Given the description of an element on the screen output the (x, y) to click on. 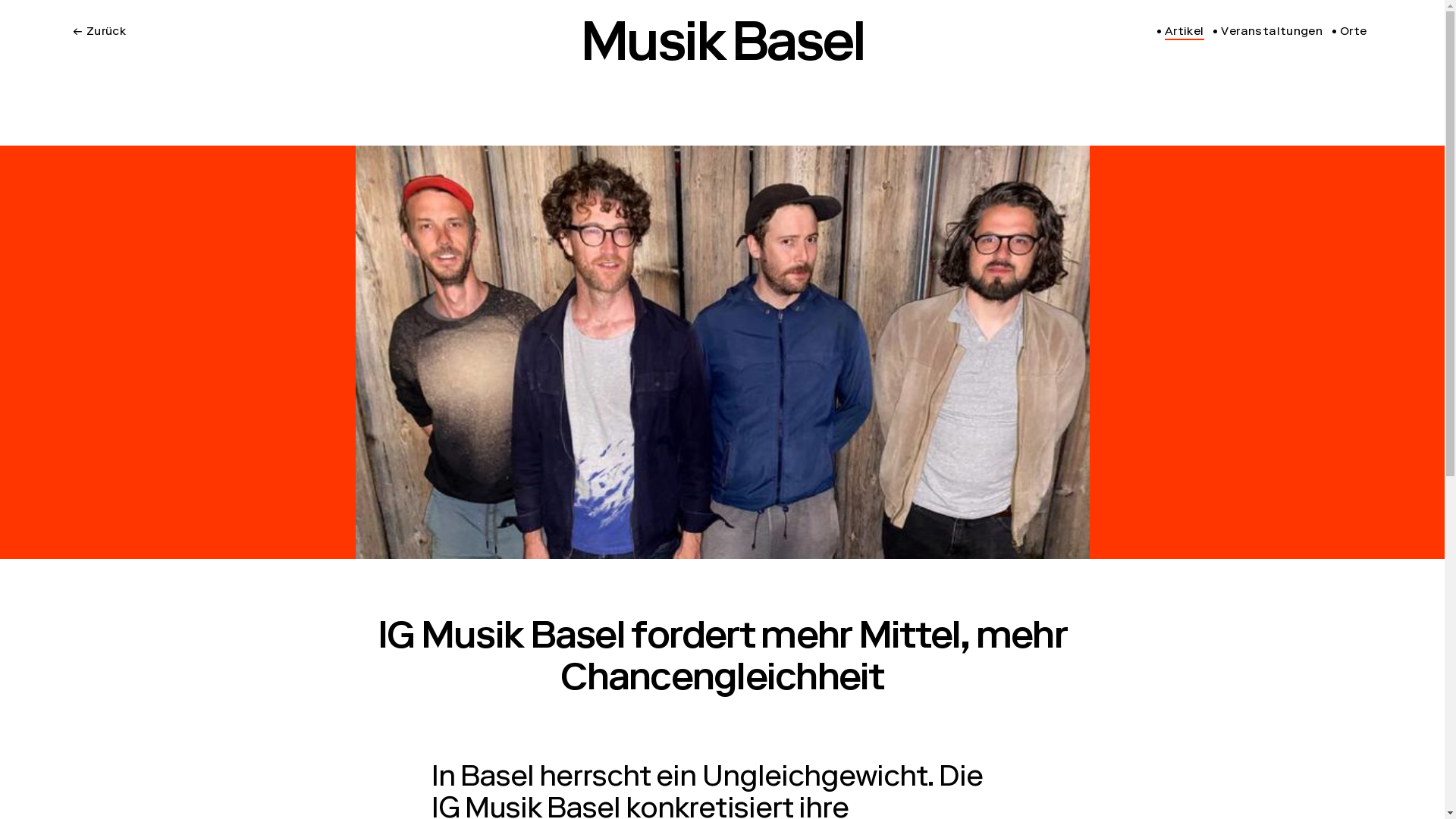
Artikel Element type: text (1180, 32)
Orte Element type: text (1349, 32)
Musik Basel Element type: text (722, 48)
Veranstaltungen Element type: text (1267, 32)
